Given the description of an element on the screen output the (x, y) to click on. 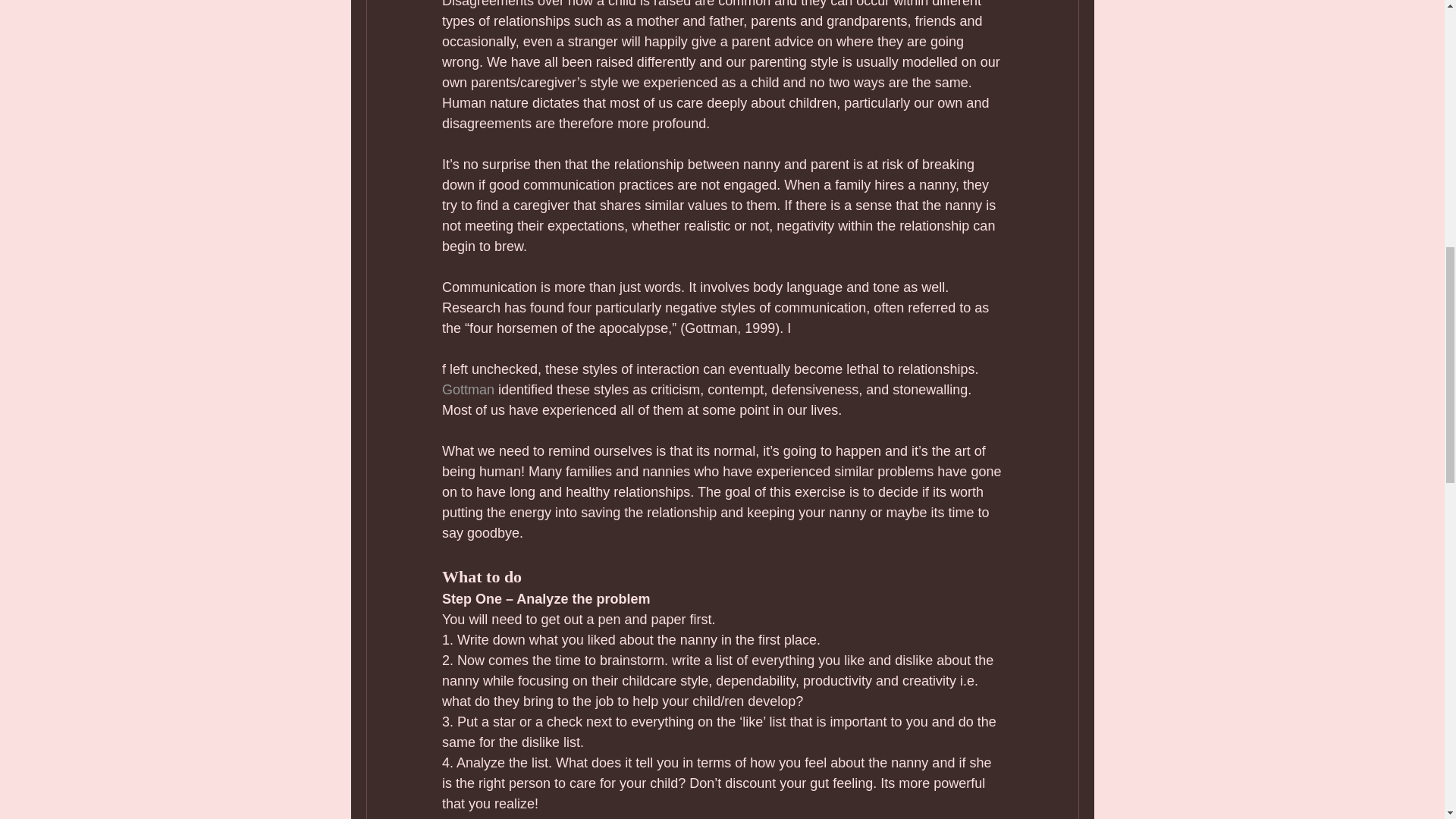
Gottman (467, 389)
